Given the description of an element on the screen output the (x, y) to click on. 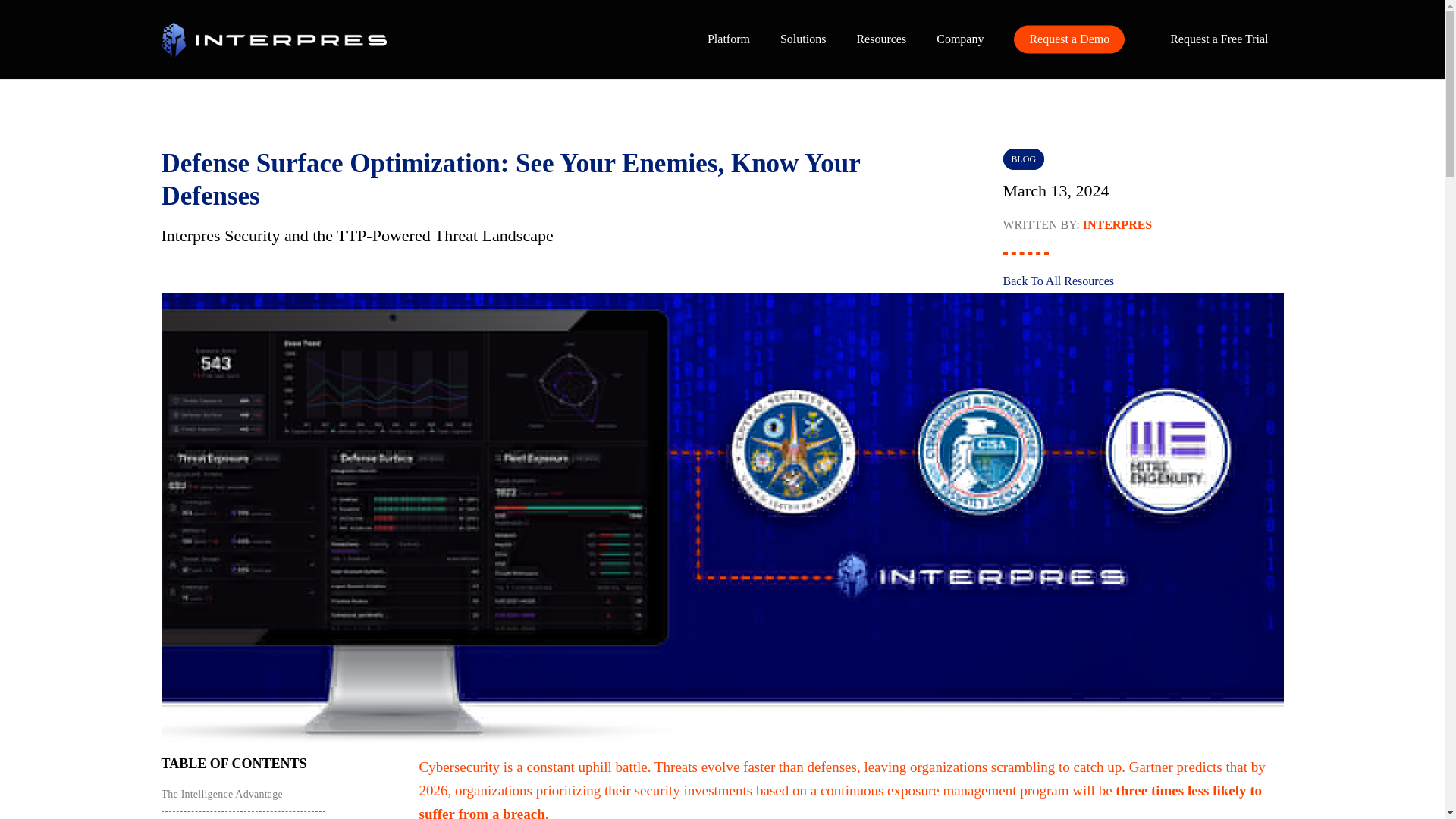
Platform (728, 39)
Company (960, 39)
Posts by Interpres (1118, 224)
Resources (880, 39)
Solutions (802, 39)
The Intelligence Advantage (221, 794)
